Given the description of an element on the screen output the (x, y) to click on. 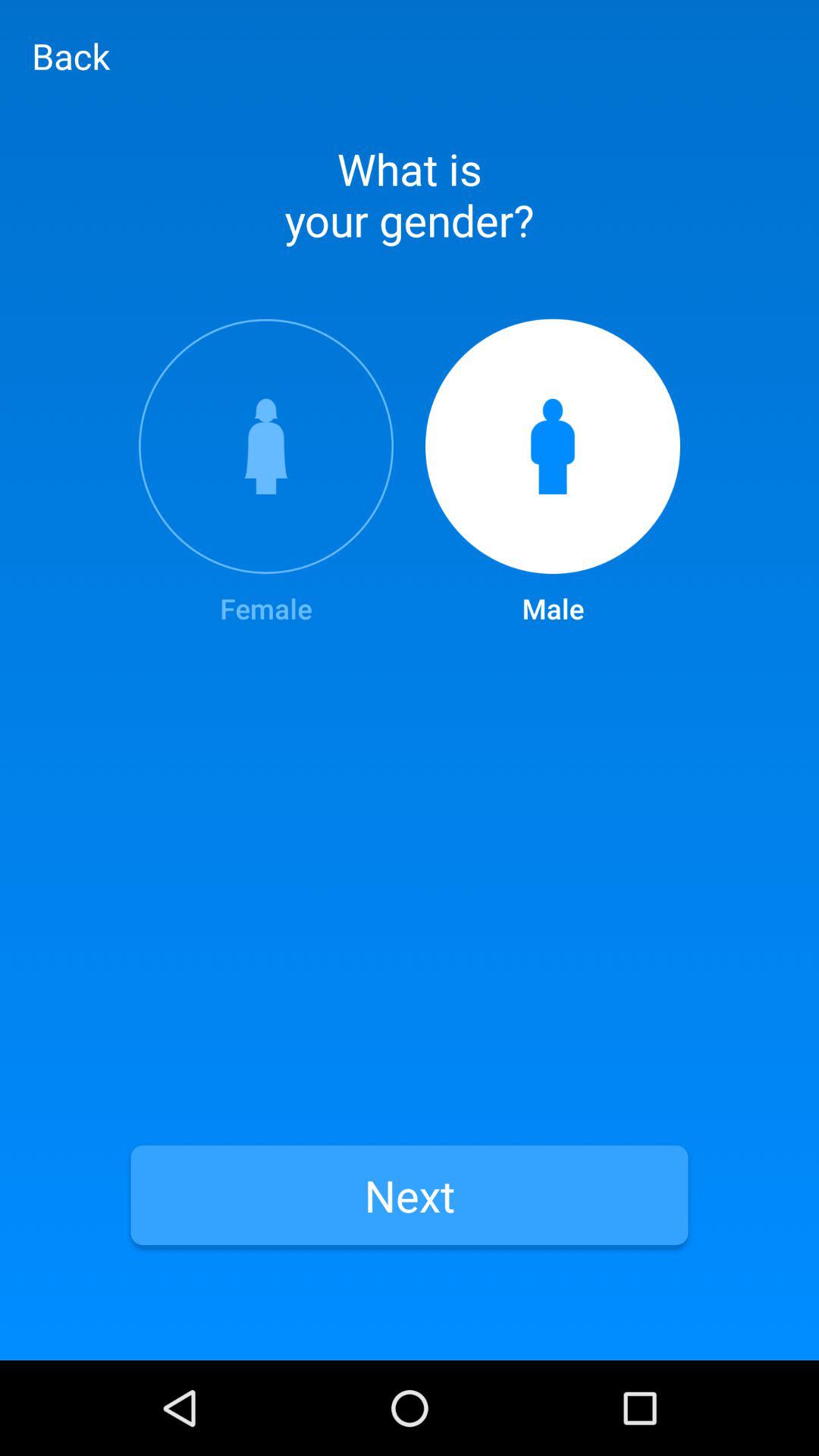
launch the item next to female item (552, 473)
